Given the description of an element on the screen output the (x, y) to click on. 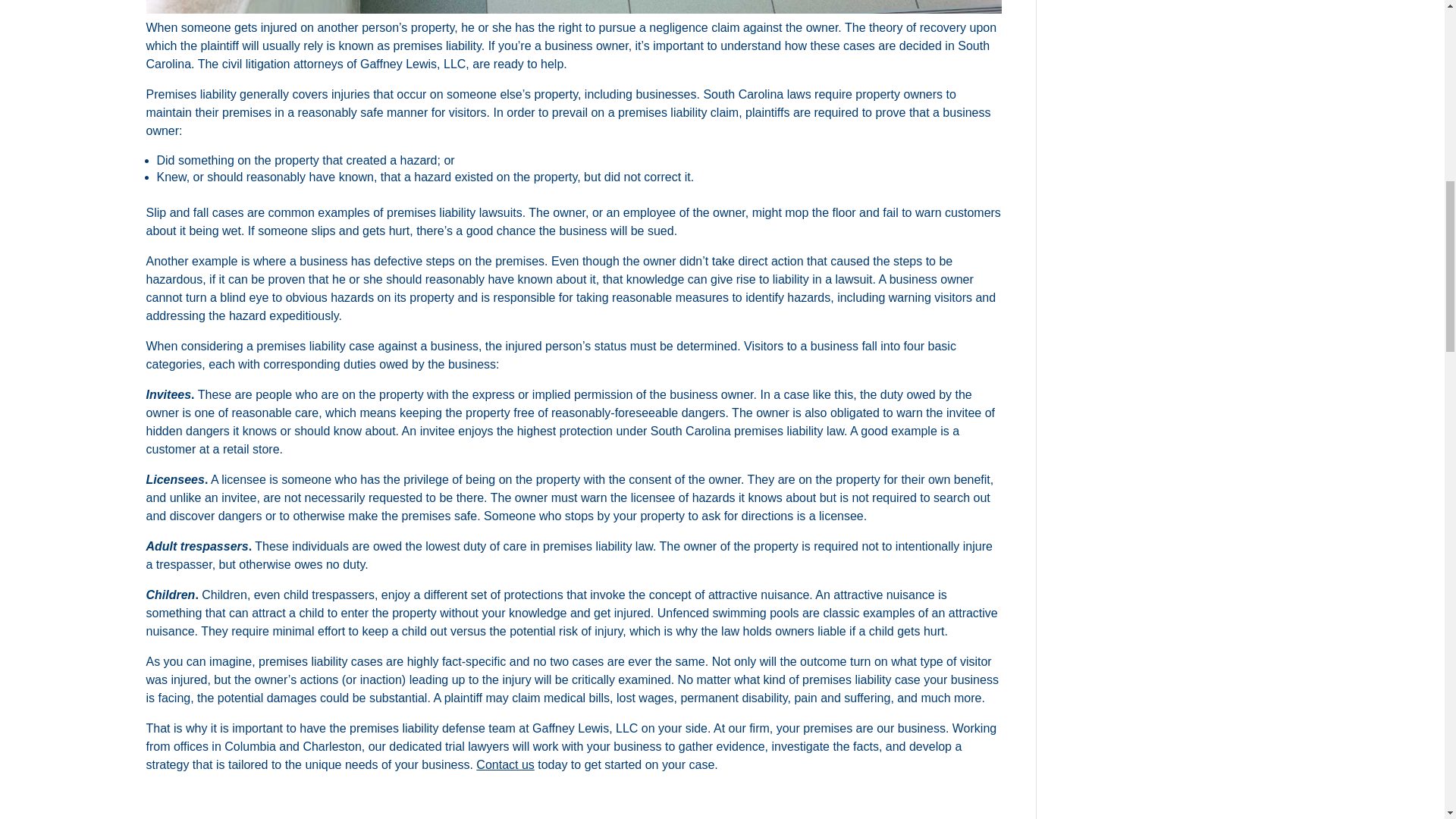
Contact us (505, 764)
